Given the description of an element on the screen output the (x, y) to click on. 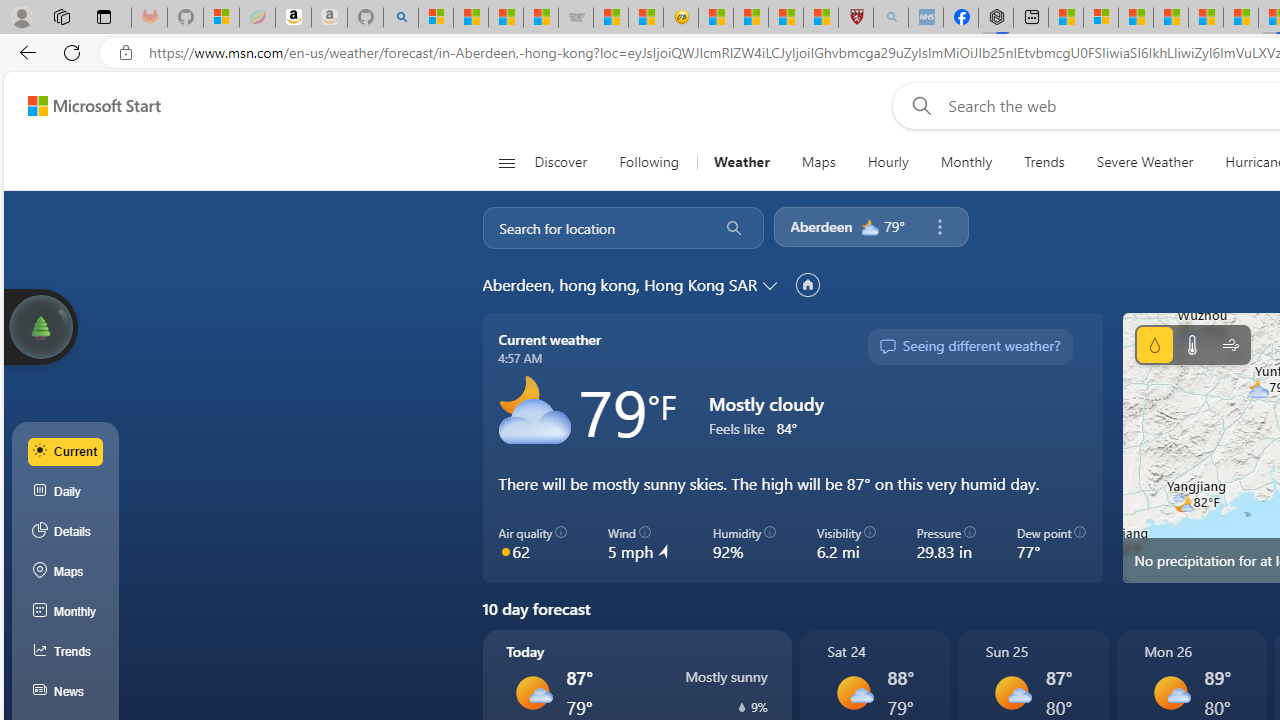
Maps (818, 162)
Daily (65, 492)
Severe Weather (1144, 162)
Precipitation (742, 707)
Open navigation menu (506, 162)
Pressure 29.83 in (946, 543)
